Given the description of an element on the screen output the (x, y) to click on. 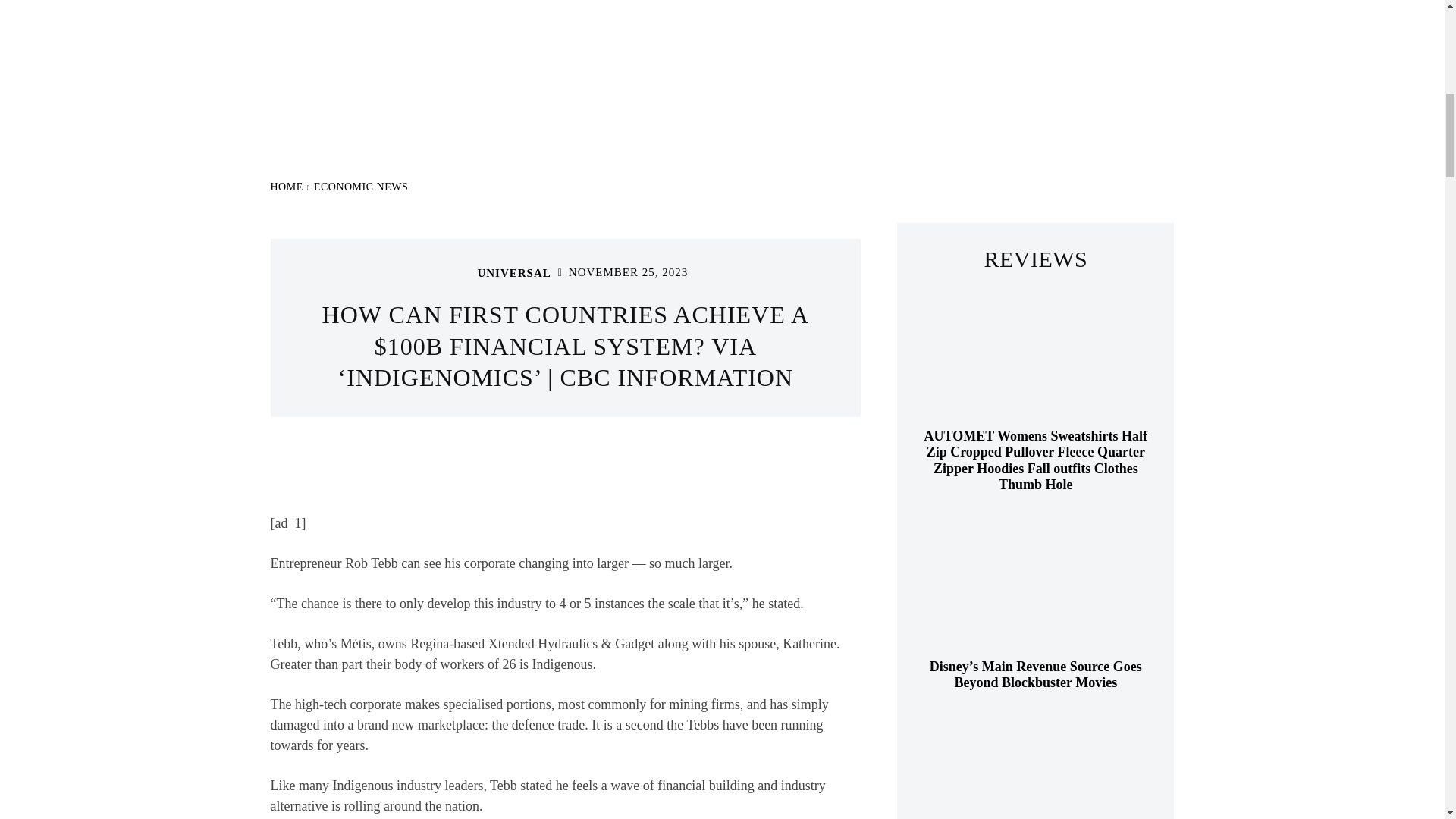
View all posts in Economic news (360, 186)
universal (457, 272)
